Given the description of an element on the screen output the (x, y) to click on. 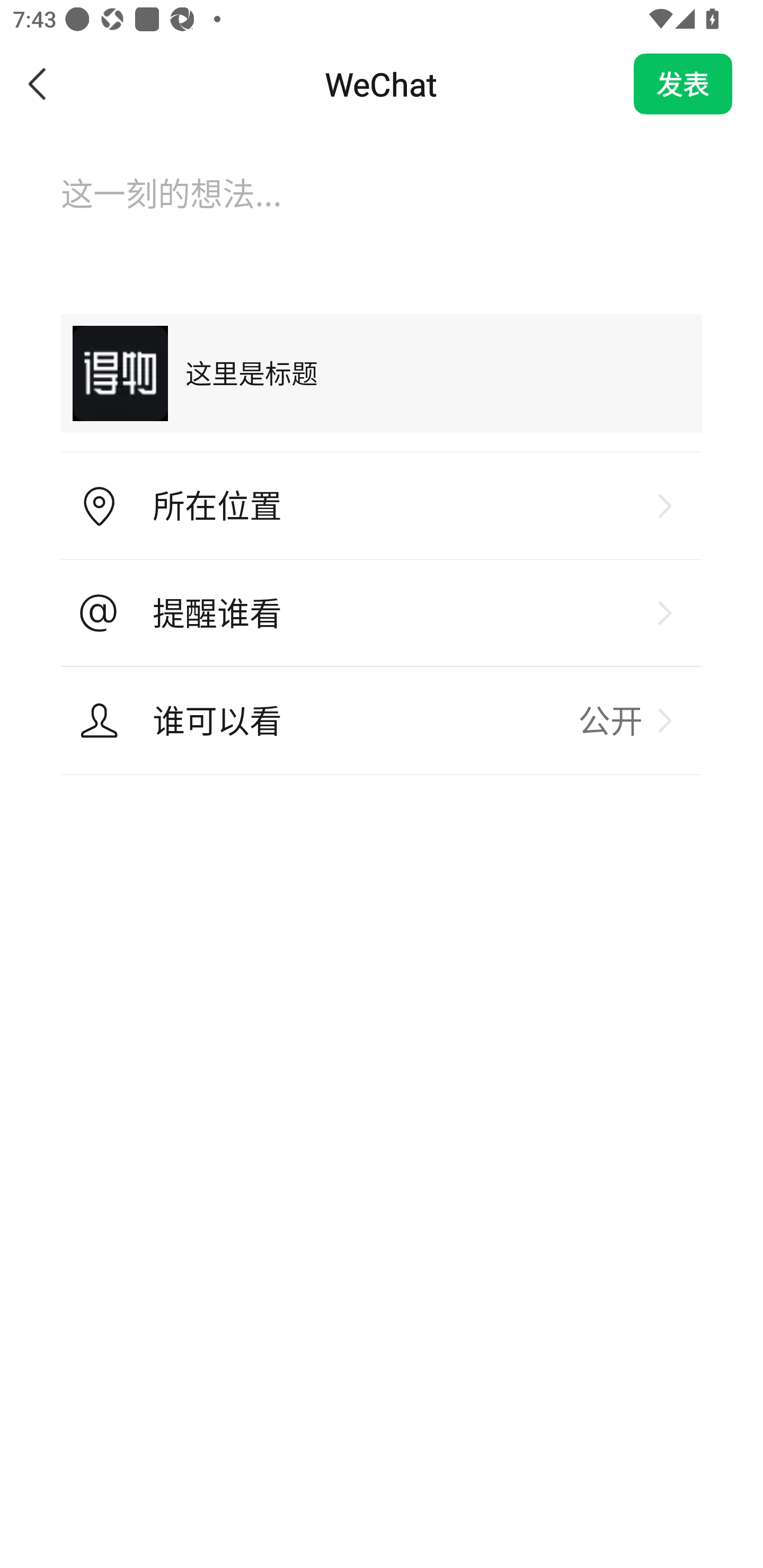
返回 (38, 83)
发表 (683, 83)
这一刻的想法... (381, 211)
这里是标题 (381, 372)
所在位置 (381, 506)
提醒谁看  提醒谁看 (381, 612)
谁可以看 公开 (381, 720)
